Given the description of an element on the screen output the (x, y) to click on. 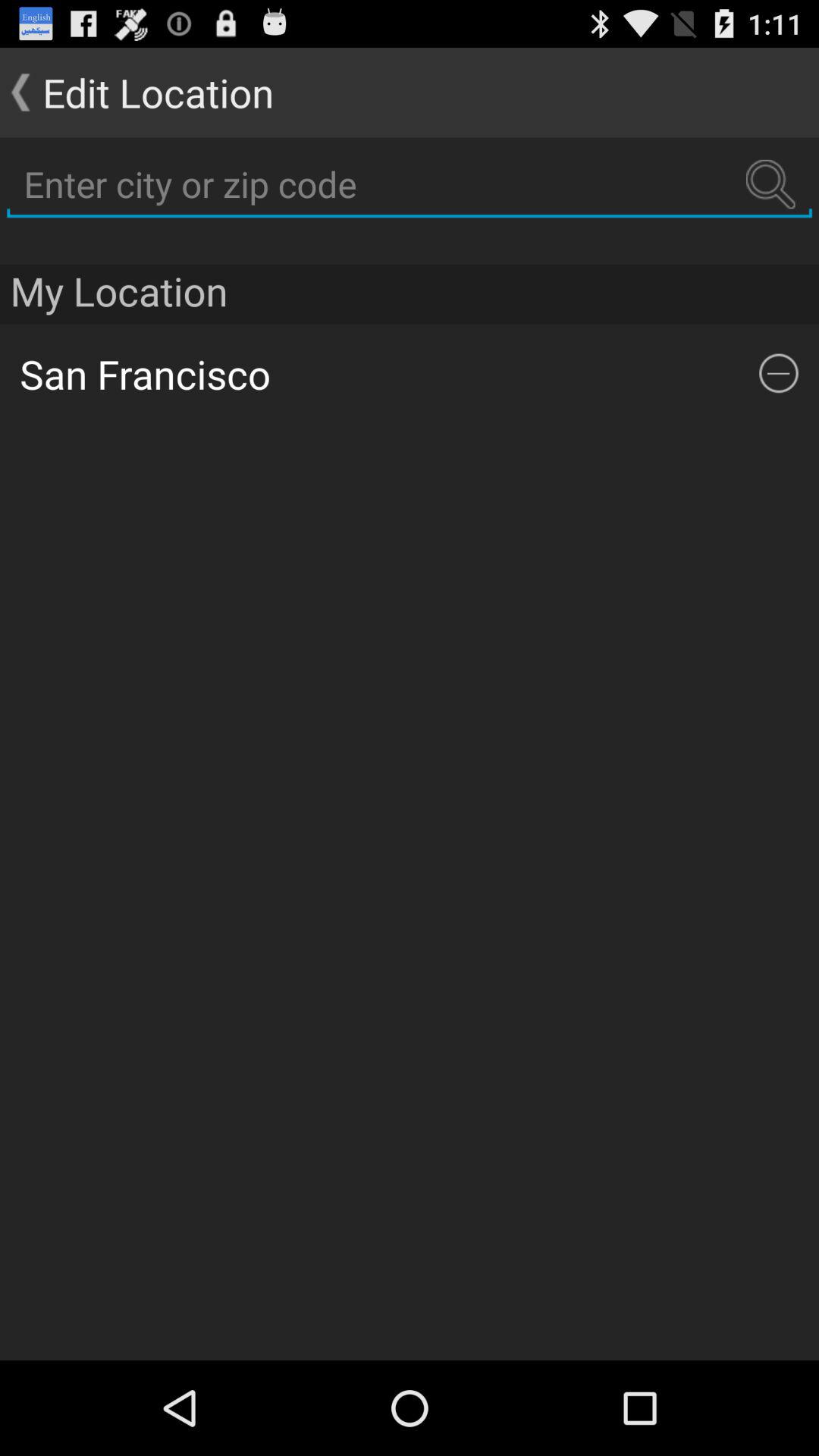
click the icon below the my location (779, 373)
